Given the description of an element on the screen output the (x, y) to click on. 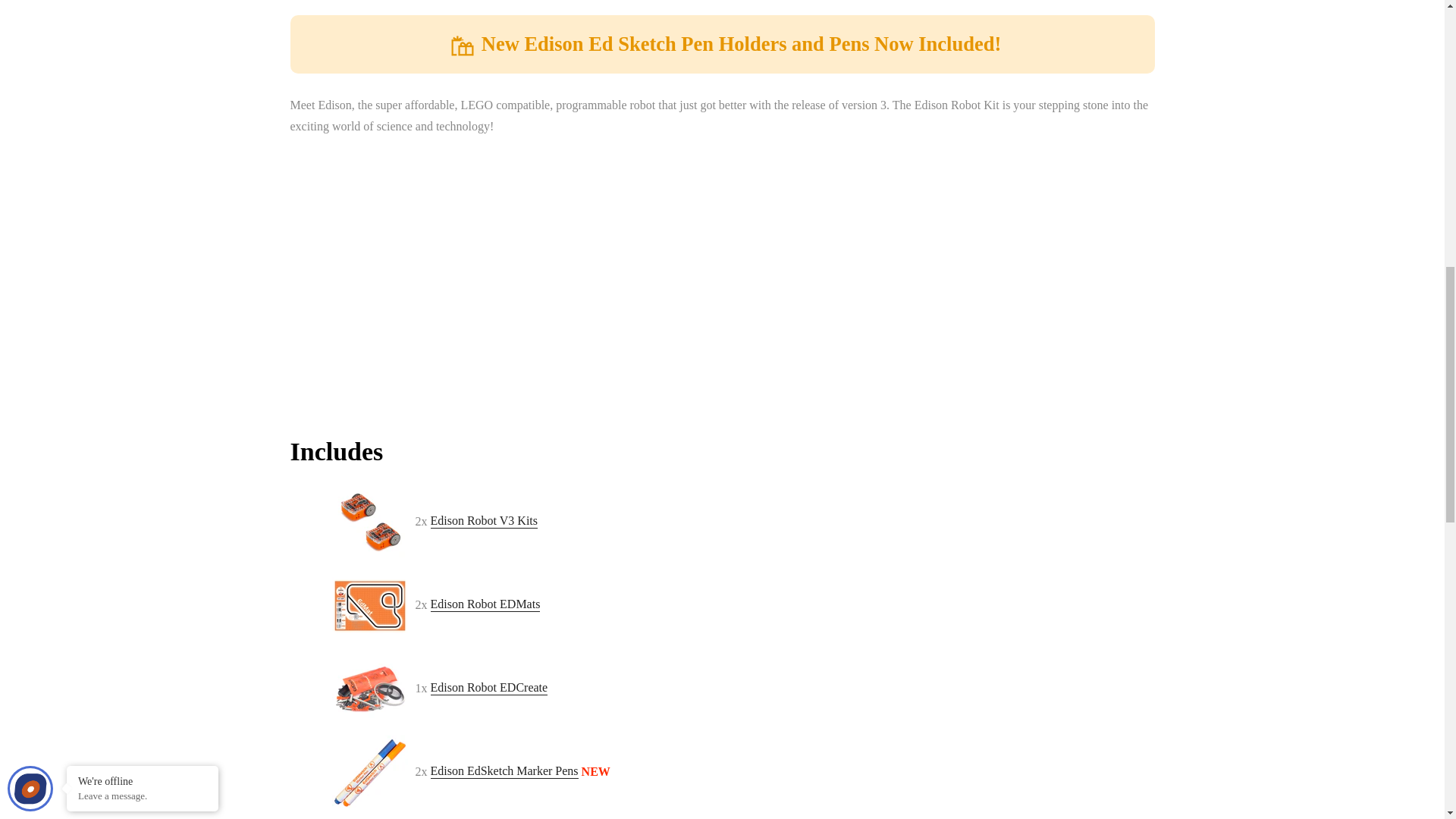
Edison Robot V3 (484, 521)
Edison Robot EDMats (485, 604)
AAA ULTRA Alkaline Batteries (504, 771)
Edison Robot EDCreate (489, 687)
